Given the description of an element on the screen output the (x, y) to click on. 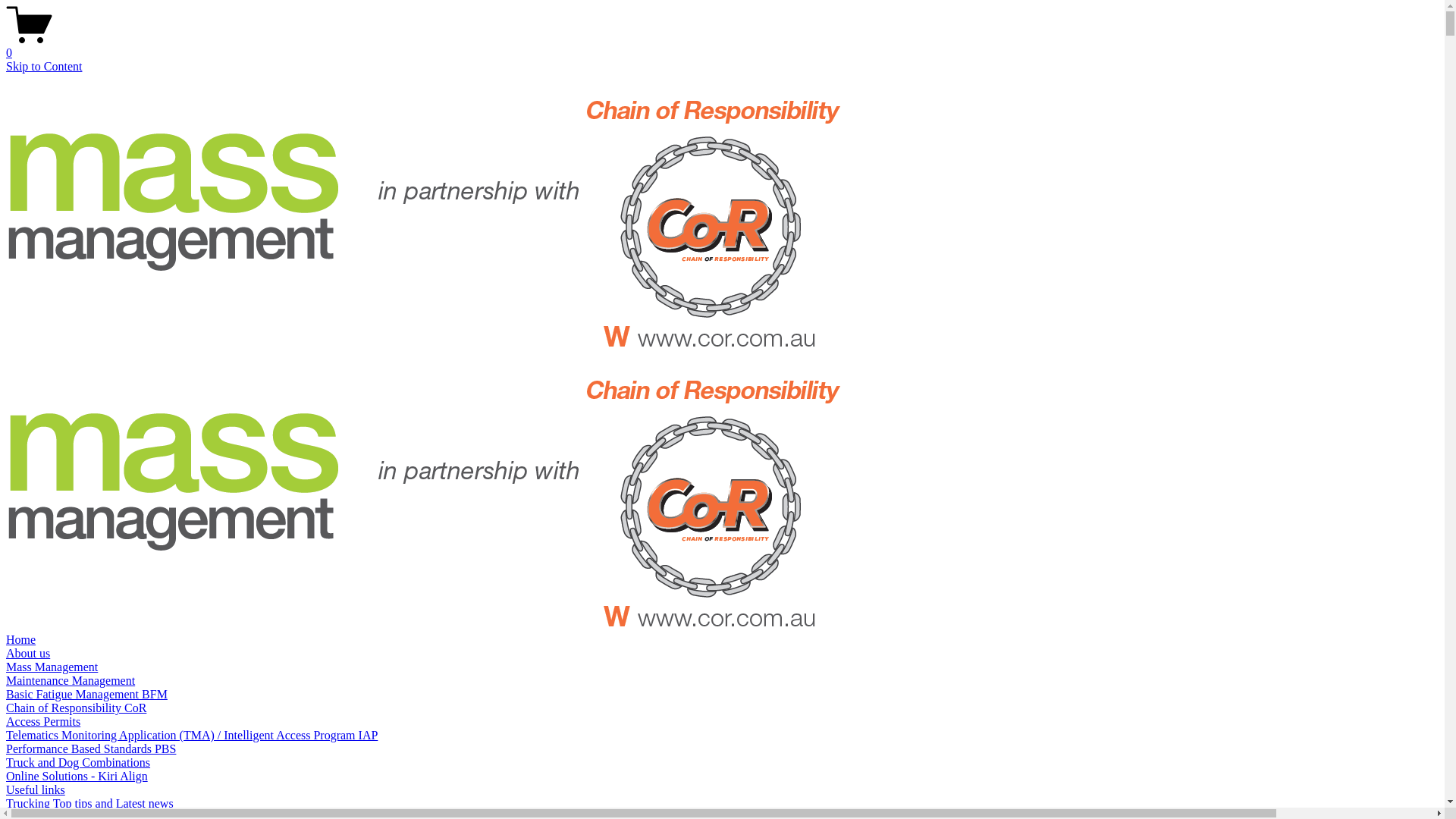
Access Permits Element type: text (43, 721)
Skip to Content Element type: text (43, 65)
Maintenance Management Element type: text (70, 680)
Online Solutions - Kiri Align Element type: text (76, 775)
About us Element type: text (28, 652)
Truck and Dog Combinations Element type: text (78, 762)
Mass Management Element type: text (51, 666)
0 Element type: text (722, 45)
Chain of Responsibility CoR Element type: text (76, 707)
Basic Fatigue Management BFM Element type: text (86, 693)
Useful links Element type: text (35, 789)
Trucking Top tips and Latest news Element type: text (89, 803)
Performance Based Standards PBS Element type: text (90, 748)
Home Element type: text (20, 639)
